Given the description of an element on the screen output the (x, y) to click on. 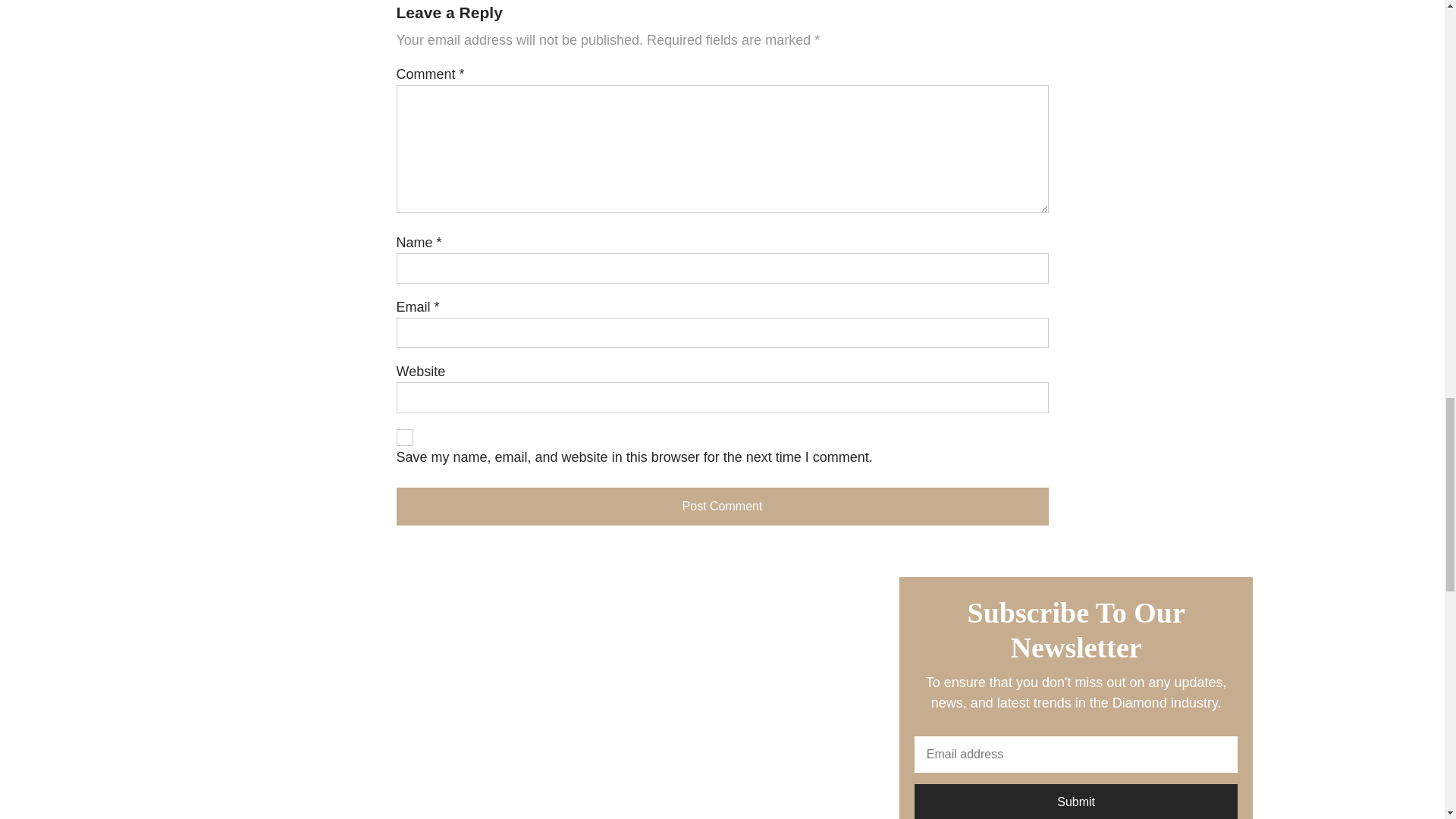
Post Comment (722, 506)
Submit (1076, 801)
yes (404, 437)
Post Comment (722, 506)
